Given the description of an element on the screen output the (x, y) to click on. 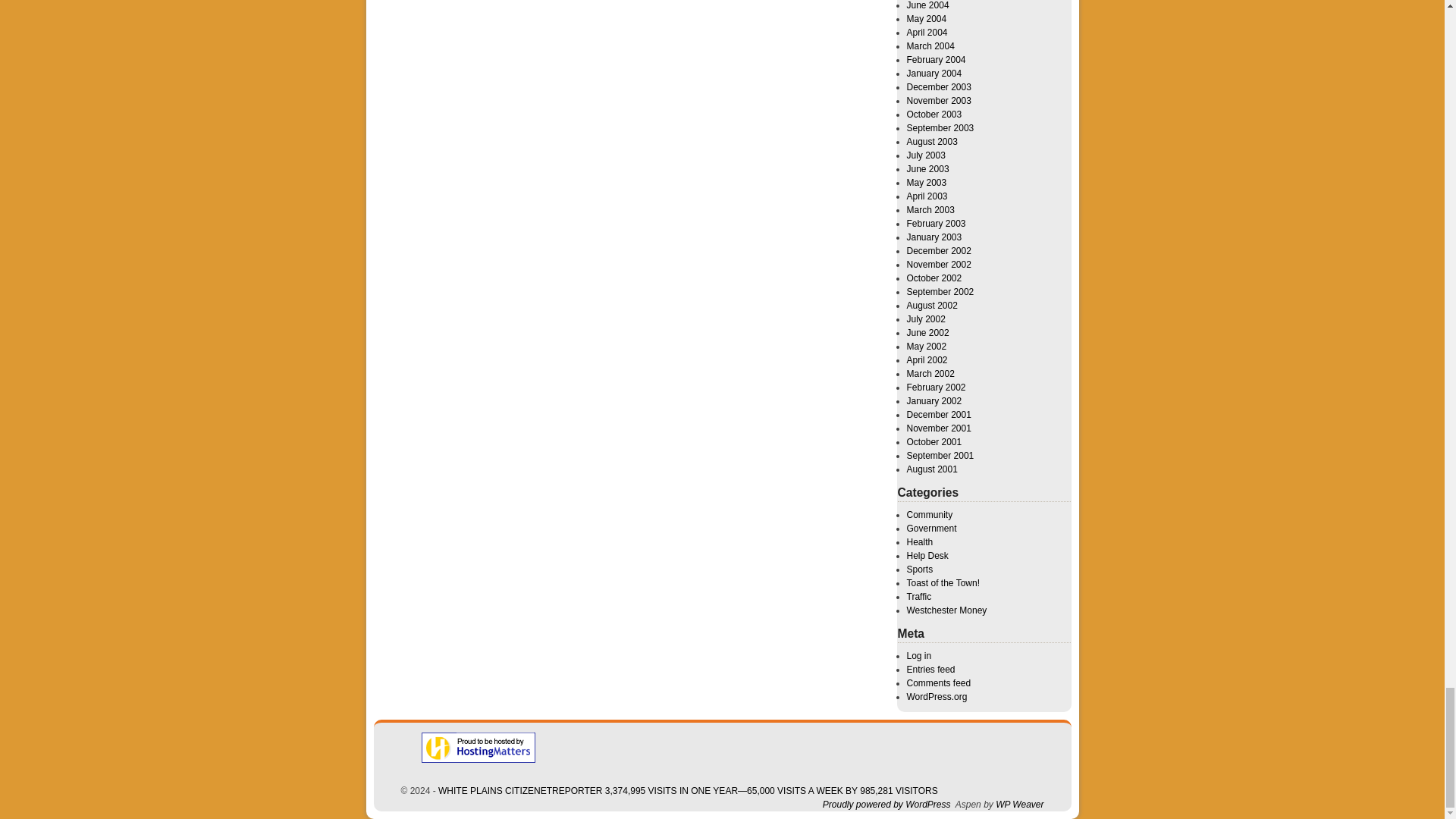
wordpress.org (886, 804)
